Given the description of an element on the screen output the (x, y) to click on. 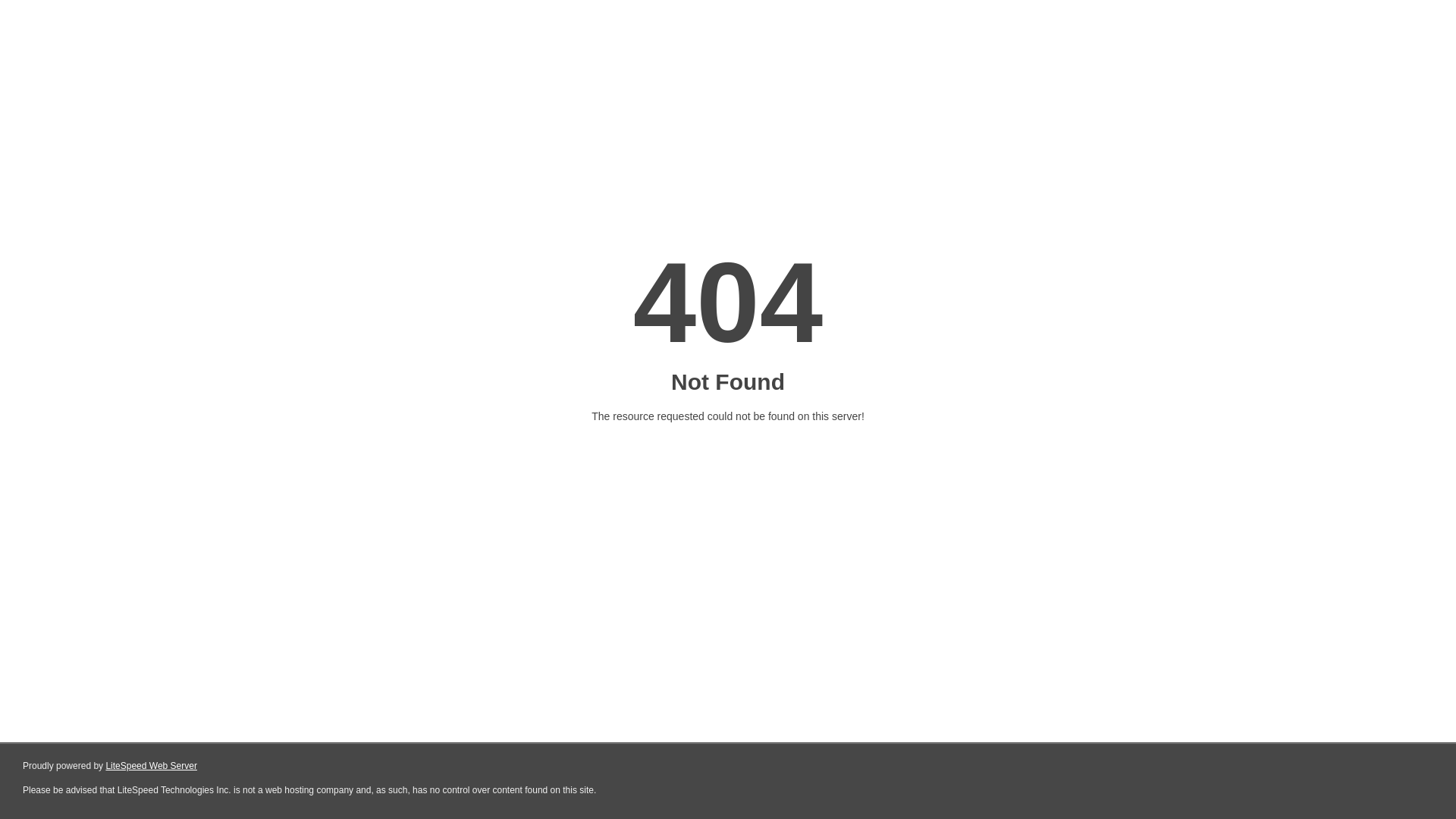
LiteSpeed Web Server Element type: text (151, 765)
